Given the description of an element on the screen output the (x, y) to click on. 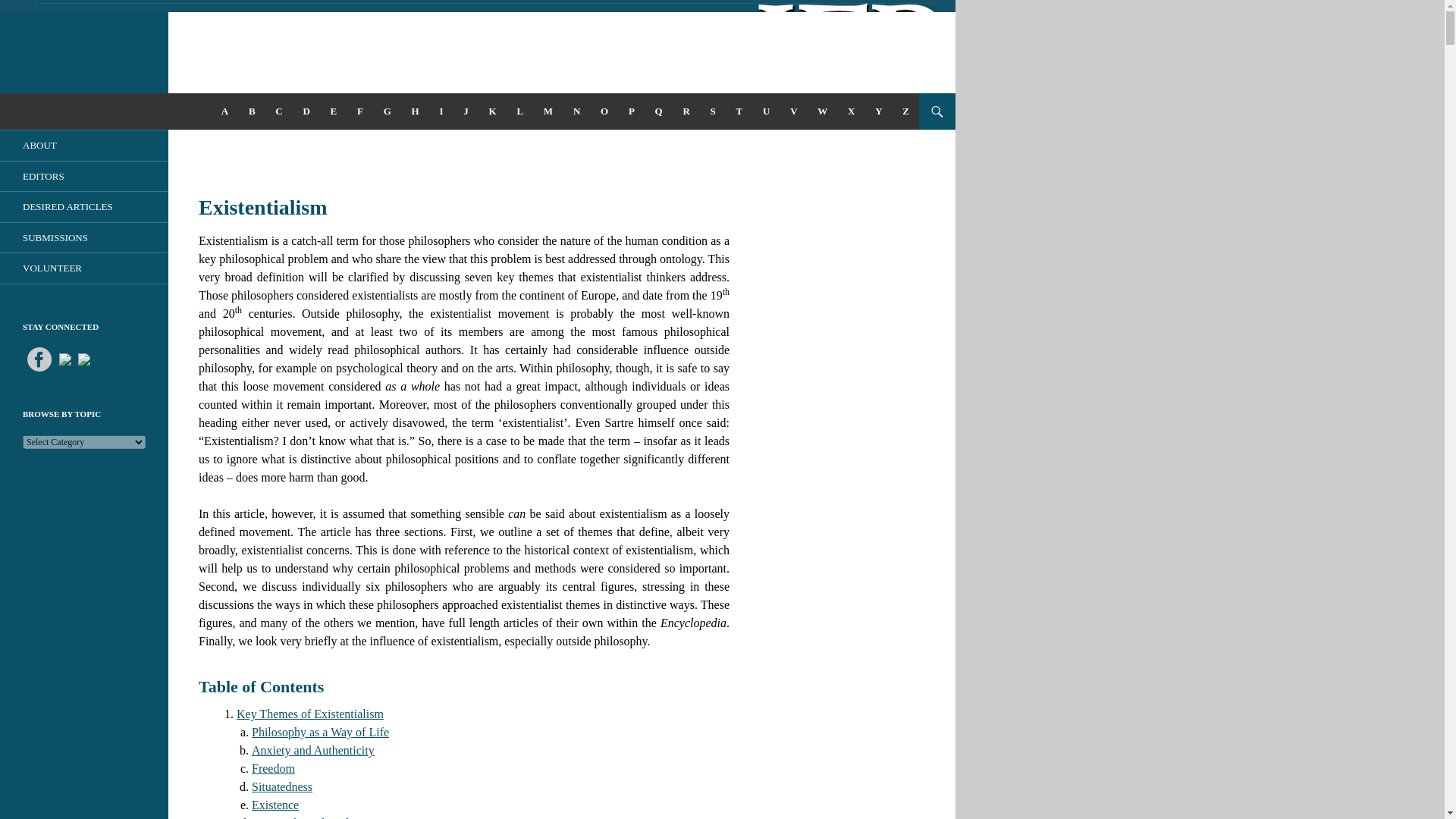
Situatedness (282, 786)
SKIP TO CONTENT (266, 100)
Key Themes of Existentialism (309, 713)
Anxiety and Authenticity (312, 749)
Internet Encyclopedia of Philosophy (128, 111)
Existence (274, 804)
Search (21, 102)
Philosophy as a Way of Life (319, 731)
Freedom (273, 768)
